Given the description of an element on the screen output the (x, y) to click on. 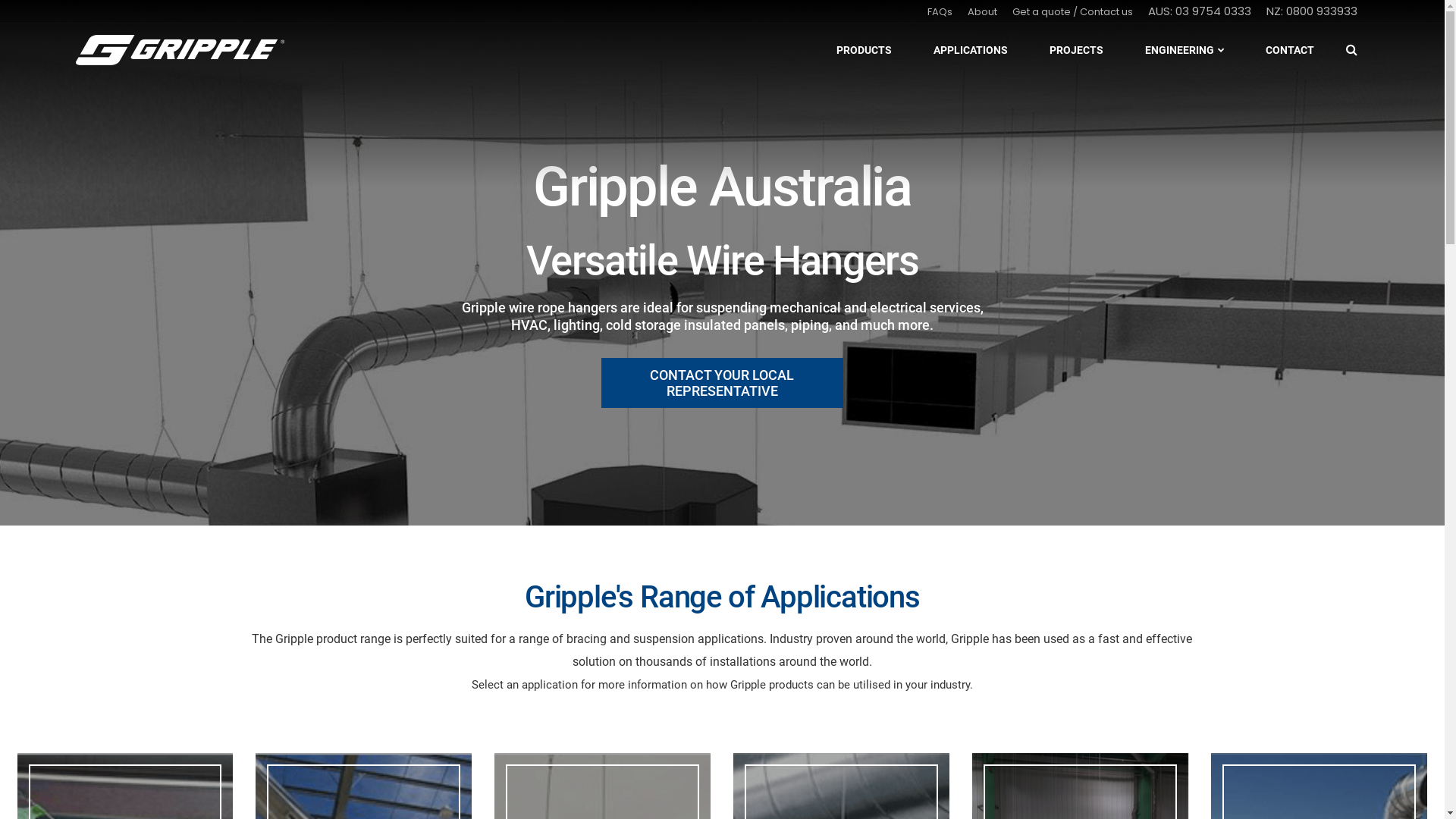
CONTACT Element type: text (1289, 49)
FAQs Element type: text (939, 11)
CONTACT YOUR LOCAL REPRESENTATIVE Element type: text (721, 382)
ENGINEERING Element type: text (1184, 49)
NZ: 0800 933933 Element type: text (1311, 10)
AUS: 03 9754 0333 Element type: text (1199, 10)
APPLICATIONS Element type: text (970, 49)
PROJECTS Element type: text (1076, 49)
Gripple Element type: hover (180, 49)
PRODUCTS Element type: text (863, 49)
Get a quote / Contact us Element type: text (1072, 11)
About Element type: text (982, 11)
